Given the description of an element on the screen output the (x, y) to click on. 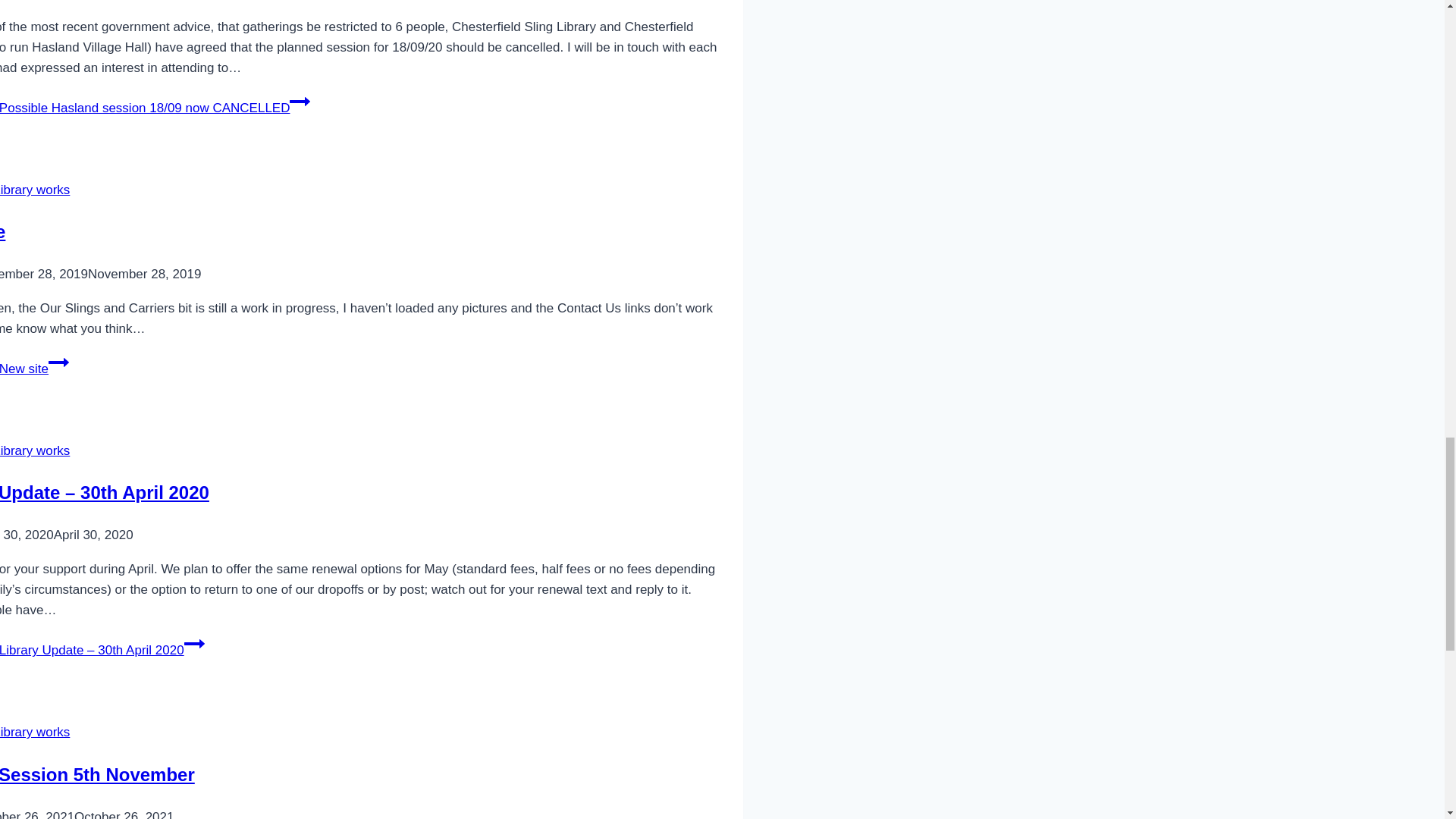
How Sling Library works (34, 189)
Continue (194, 643)
How Sling Library works (34, 731)
Continue (58, 362)
How Sling Library works (34, 450)
Read More New siteContinue (34, 368)
Continue (299, 101)
Library Session 5th November (97, 774)
